Given the description of an element on the screen output the (x, y) to click on. 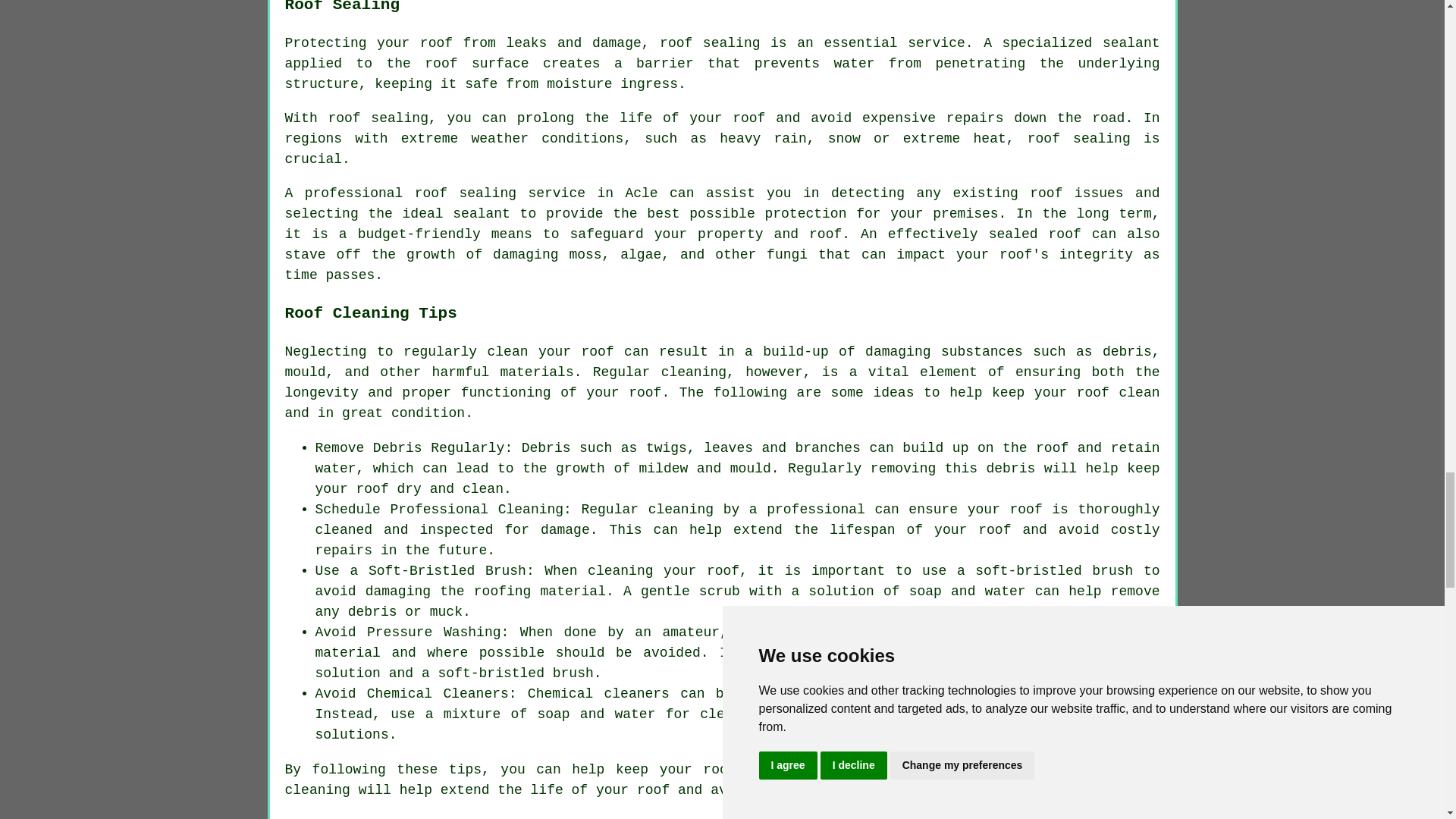
roof sealing (377, 118)
keep your roof clean (1074, 392)
keep your roof clean (701, 769)
